Given the description of an element on the screen output the (x, y) to click on. 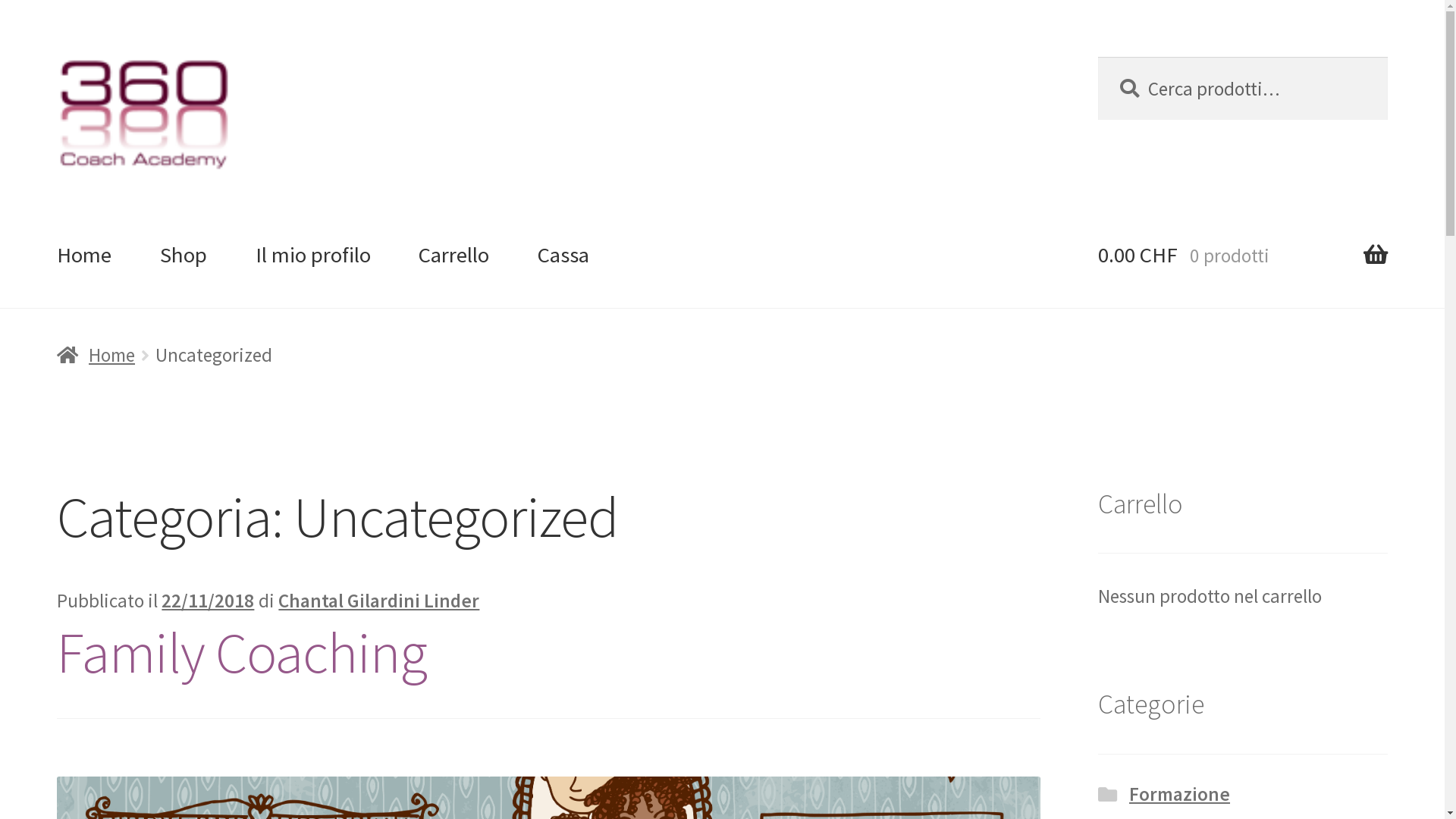
Shop Element type: text (183, 254)
22/11/2018 Element type: text (207, 600)
Home Element type: text (95, 354)
Vai alla navigazione Element type: text (56, 56)
Il mio profilo Element type: text (312, 254)
Formazione Element type: text (1179, 793)
Chantal Gilardini Linder Element type: text (378, 600)
Family Coaching Element type: text (241, 652)
Cerca Element type: text (1097, 56)
Cassa Element type: text (563, 254)
Home Element type: text (84, 254)
0.00 CHF 0 prodotti Element type: text (1242, 254)
Carrello Element type: text (453, 254)
